Given the description of an element on the screen output the (x, y) to click on. 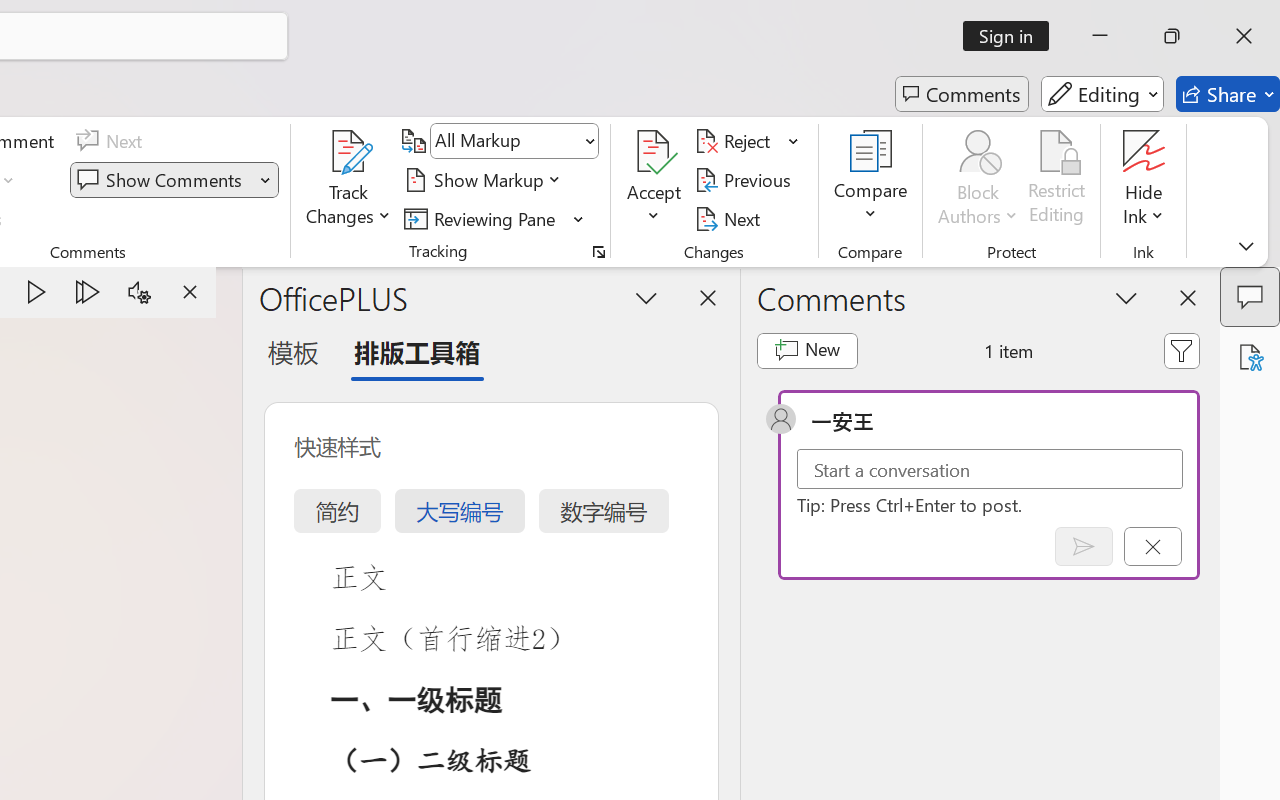
Track Changes (349, 179)
Next (730, 218)
Reject and Move to Next (735, 141)
Accept (653, 179)
Block Authors (977, 179)
Show Markup (485, 179)
Show Comments (162, 179)
Cancel (1152, 546)
